Given the description of an element on the screen output the (x, y) to click on. 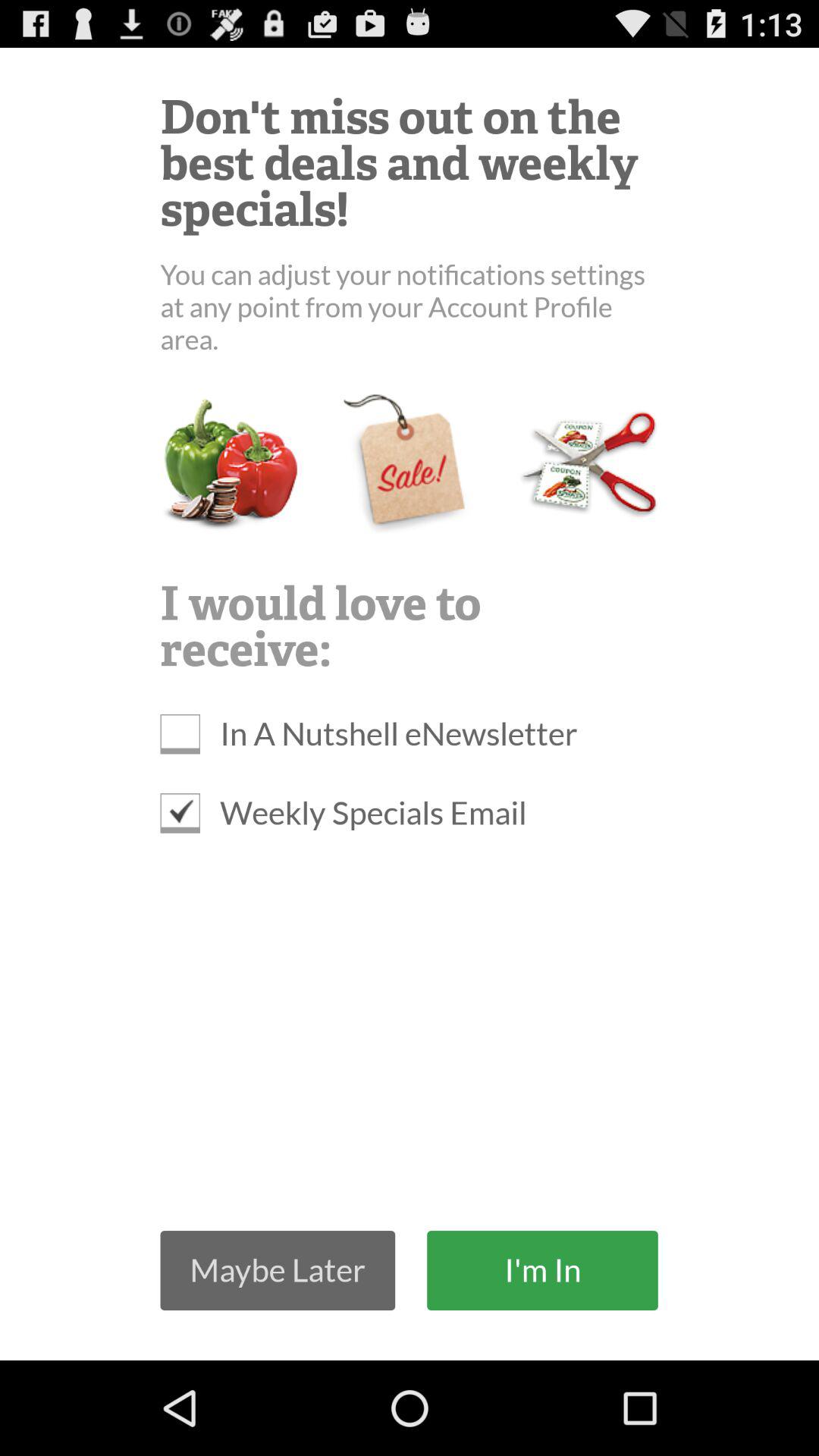
open the icon next to i'm in icon (277, 1270)
